Given the description of an element on the screen output the (x, y) to click on. 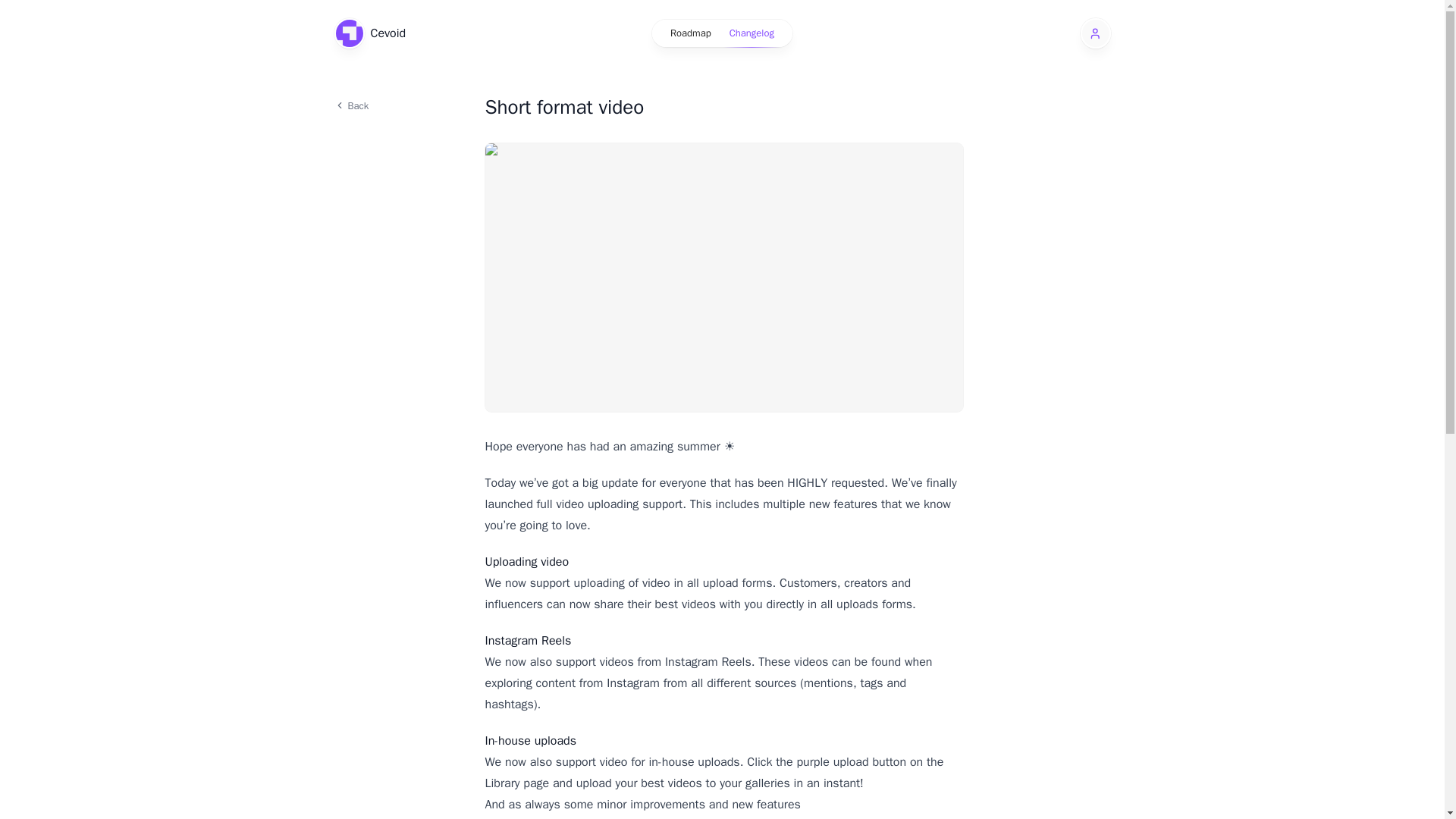
Changelog (751, 32)
Cevoid (369, 33)
Roadmap (690, 32)
Back (399, 104)
Short format video (723, 107)
